Given the description of an element on the screen output the (x, y) to click on. 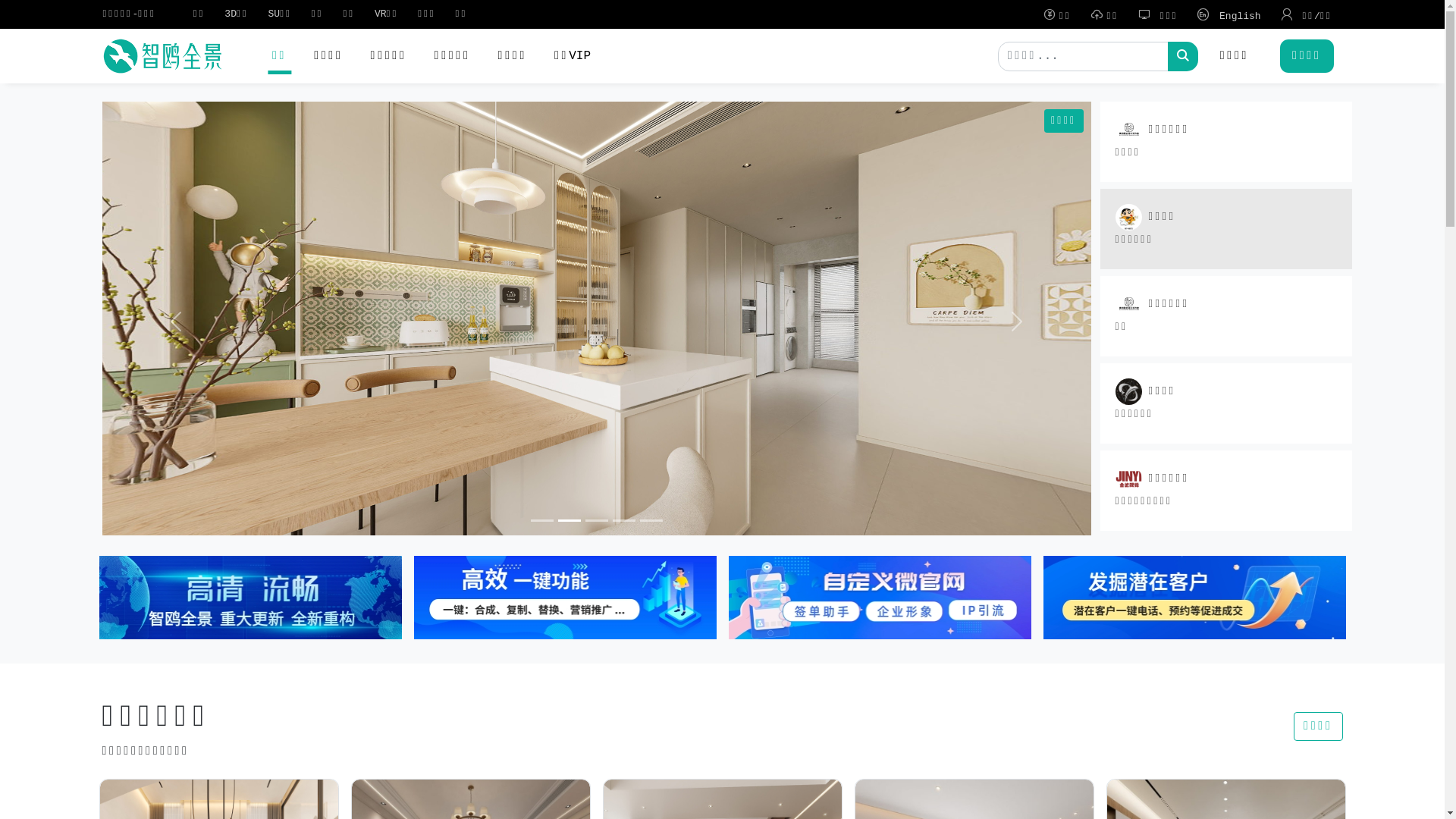
Next Element type: text (1016, 321)
Previous Element type: text (175, 321)
